Given the description of an element on the screen output the (x, y) to click on. 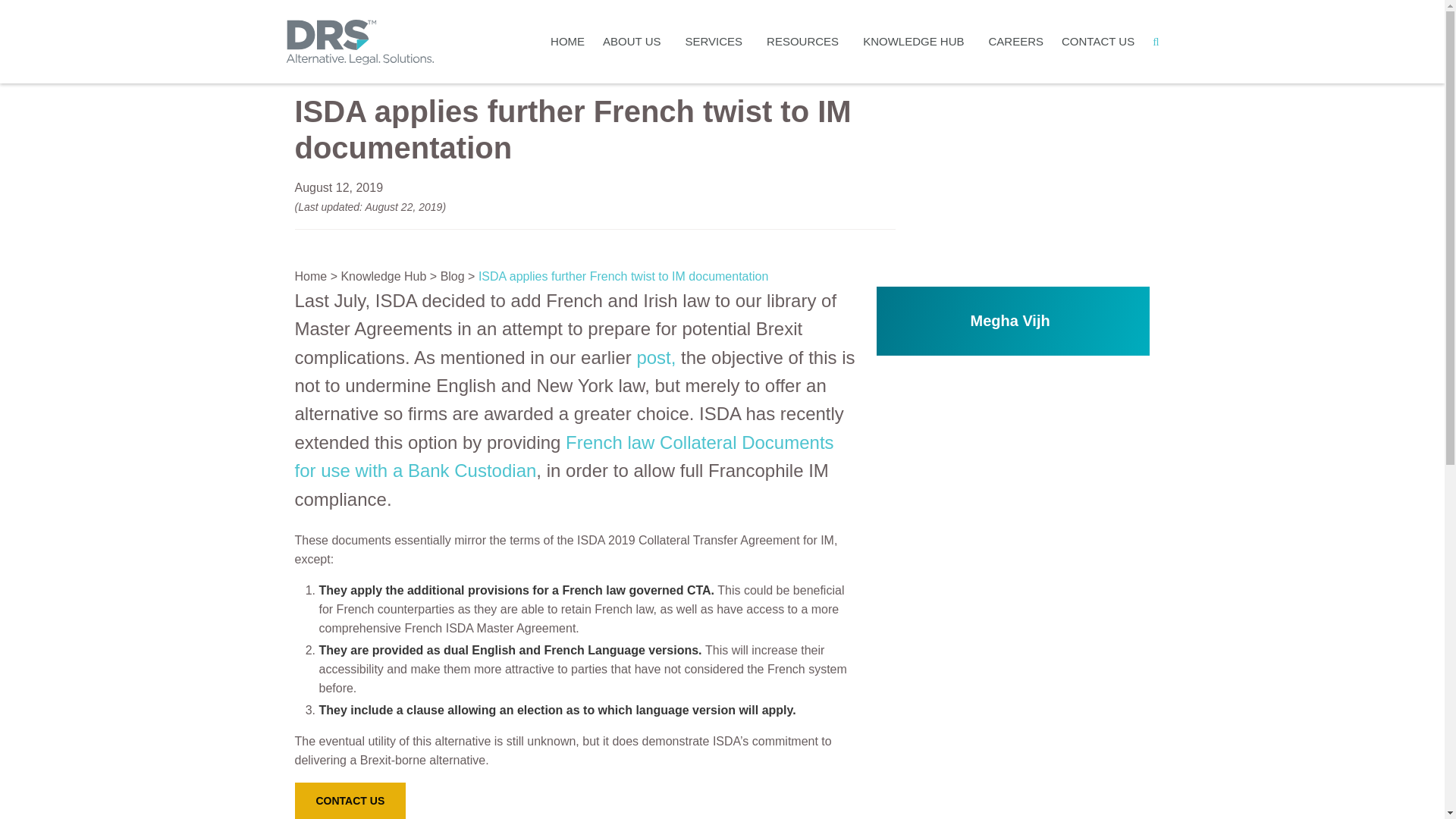
CONTACT US (350, 800)
SERVICES (717, 41)
post, (655, 357)
Knowledge Hub (383, 276)
RESOURCES (805, 41)
Blog (452, 276)
Home (310, 276)
ABOUT US (634, 41)
Go to Knowledge Hub. (383, 276)
